Given the description of an element on the screen output the (x, y) to click on. 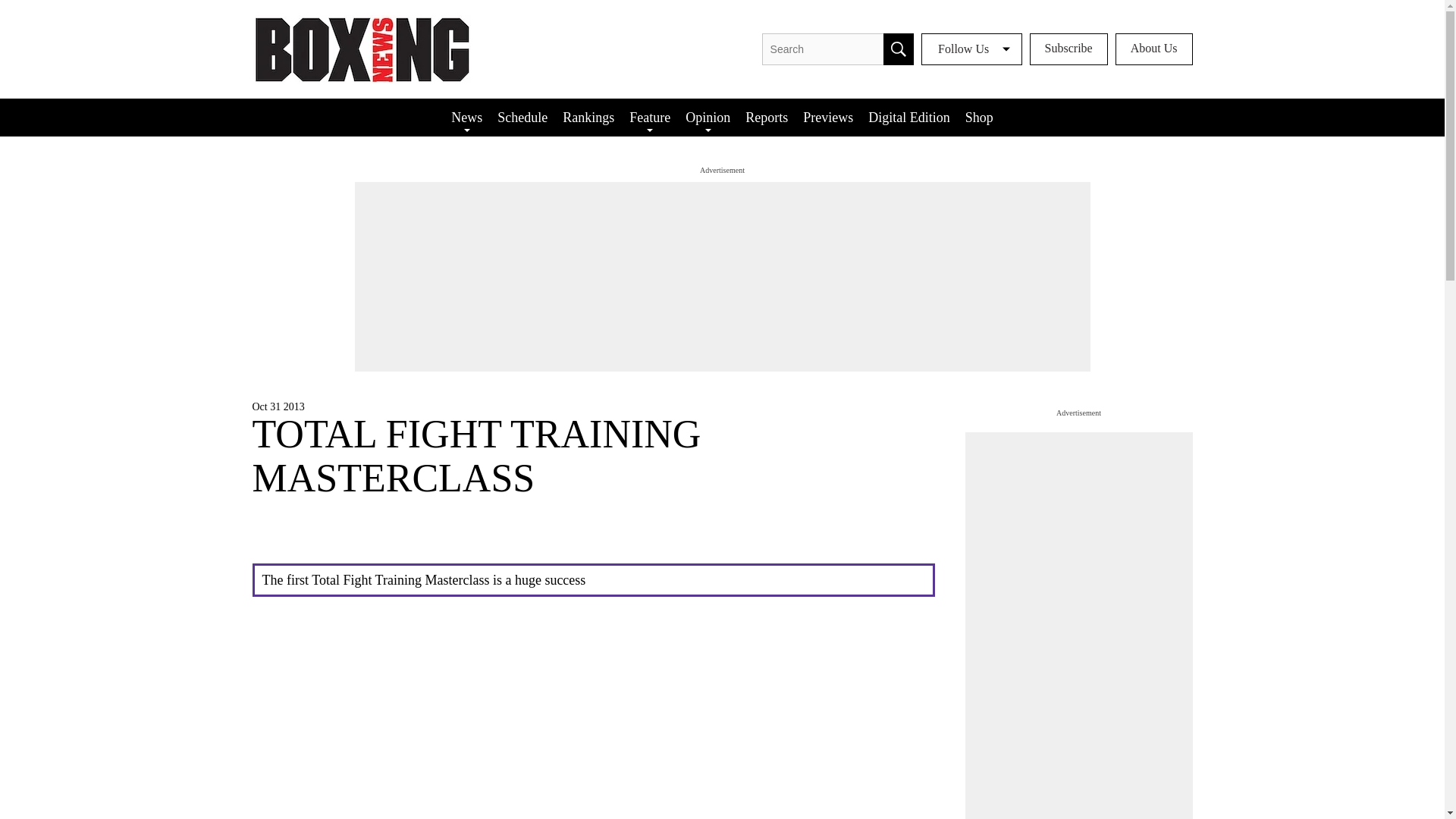
Rankings (587, 117)
Schedule (521, 117)
About Us (1153, 49)
Reports (766, 117)
Search (898, 49)
Shop (979, 117)
Opinion (708, 117)
Feature (649, 117)
News (466, 117)
Previews (827, 117)
Subscribe (1068, 49)
Follow Us (971, 49)
Digital Edition (909, 117)
